Given the description of an element on the screen output the (x, y) to click on. 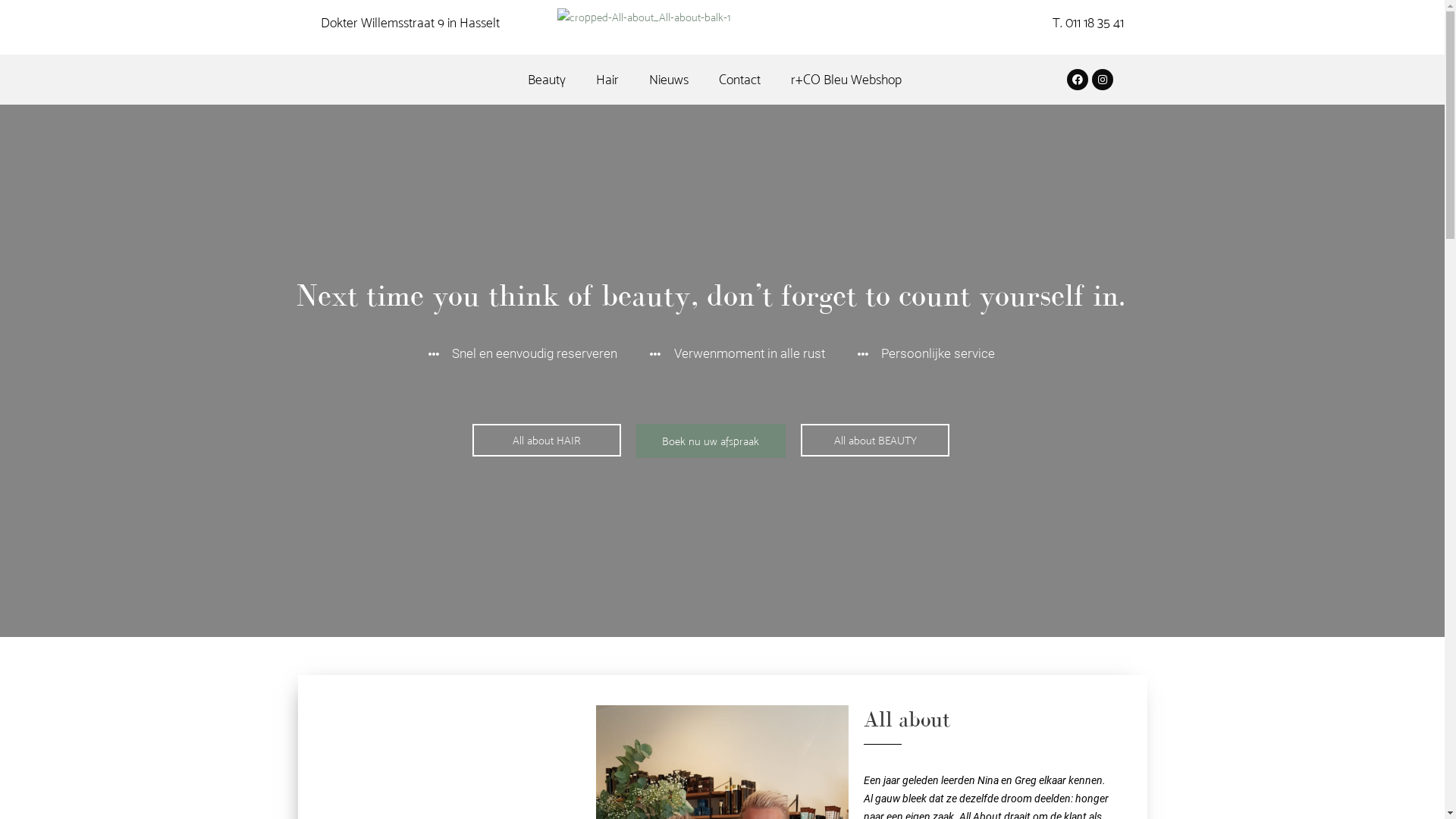
cropped-All-about_All-about-balk-1 Element type: hover (643, 17)
Boek nu uw afspraak Element type: text (710, 440)
Hair Element type: text (606, 79)
All about BEAUTY Element type: text (875, 439)
r+CO Bleu Webshop Element type: text (845, 79)
Facebook Element type: text (1077, 78)
Contact Element type: text (739, 79)
Instagram Element type: text (1102, 78)
All about HAIR Element type: text (546, 439)
Nieuws Element type: text (668, 79)
Beauty Element type: text (546, 79)
